Given the description of an element on the screen output the (x, y) to click on. 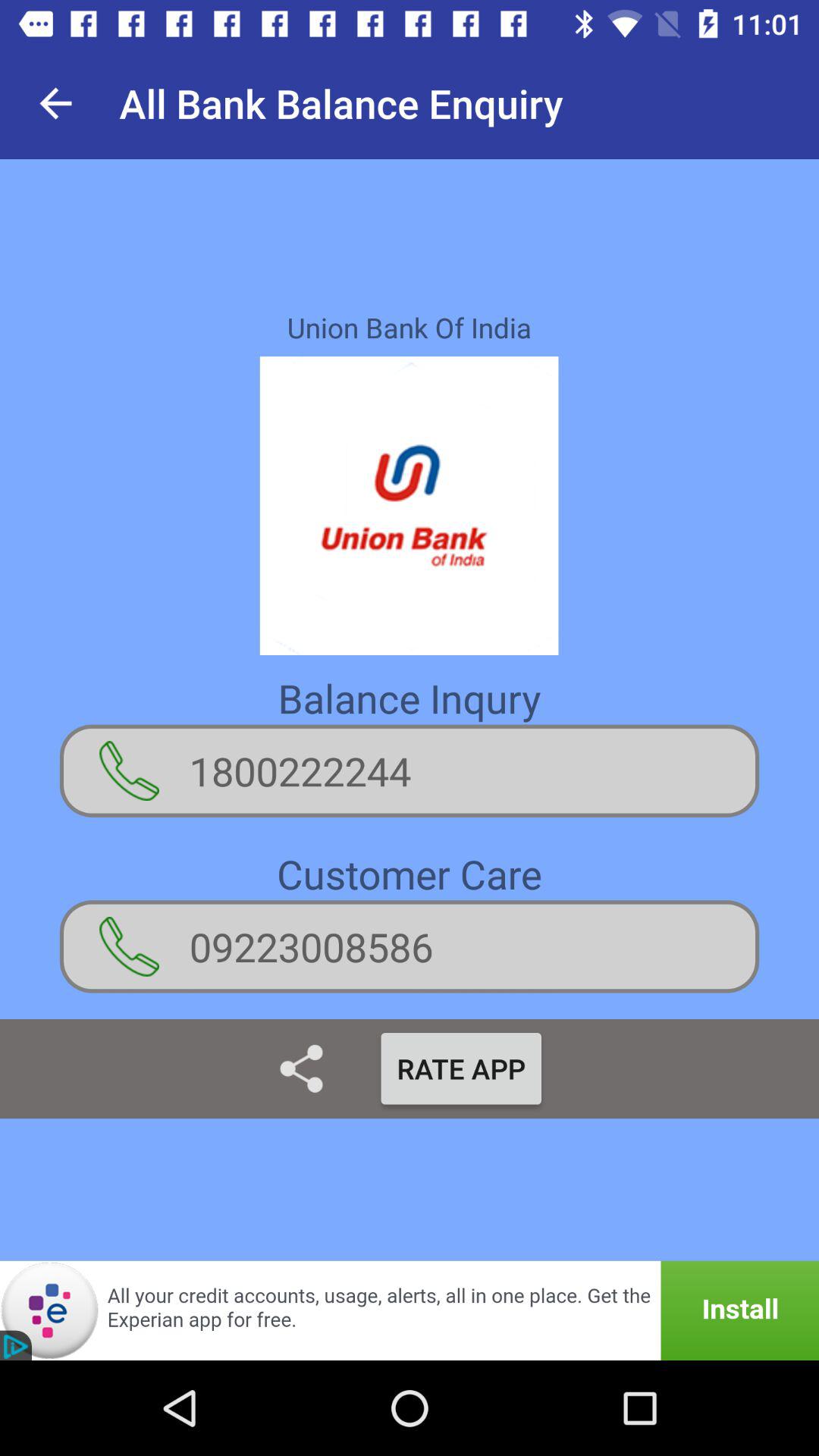
turn on the icon below the rate app item (409, 1310)
